Given the description of an element on the screen output the (x, y) to click on. 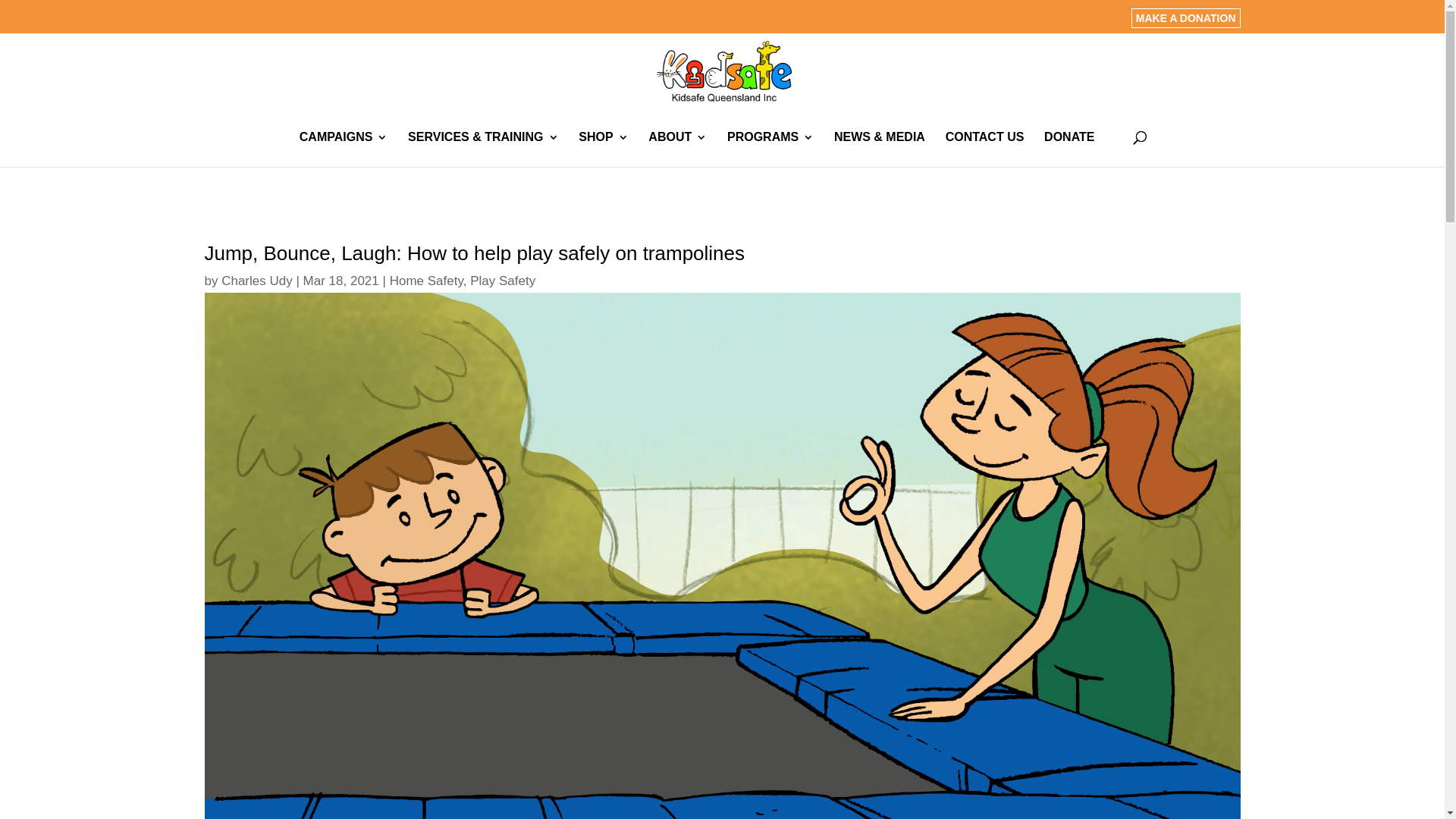
MAKE A DONATION Element type: text (1185, 18)
DONATE Element type: text (1069, 148)
ABOUT Element type: text (677, 148)
SERVICES & TRAINING Element type: text (482, 148)
NEWS & MEDIA Element type: text (879, 148)
CONTACT US Element type: text (984, 148)
PROGRAMS Element type: text (770, 148)
CAMPAIGNS Element type: text (343, 148)
Play Safety Element type: text (502, 280)
SHOP Element type: text (602, 148)
Home Safety Element type: text (426, 280)
Charles Udy Element type: text (256, 280)
